Given the description of an element on the screen output the (x, y) to click on. 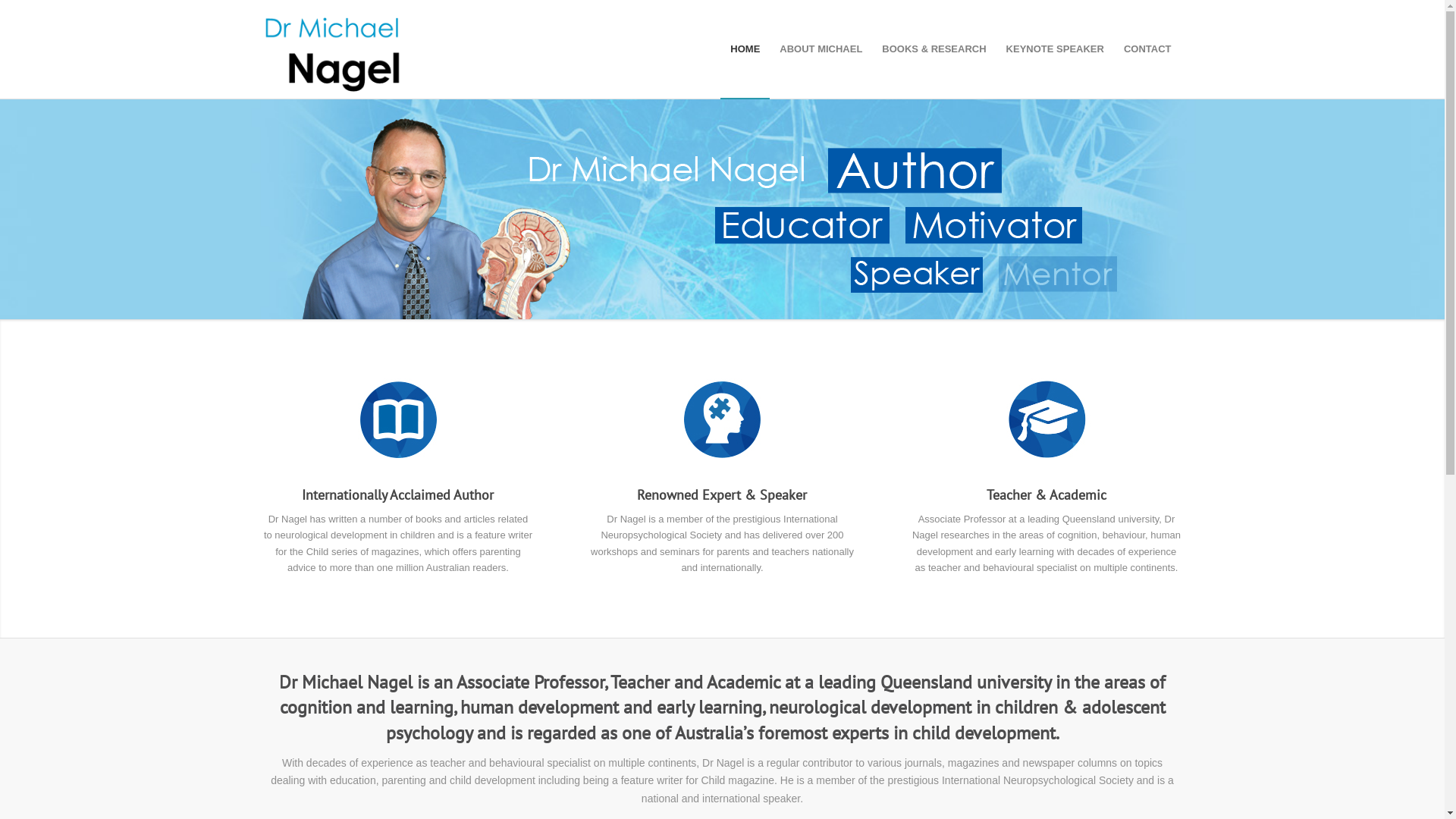
CONTACT Element type: text (1147, 49)
ABOUT MICHAEL Element type: text (820, 49)
KEYNOTE SPEAKER Element type: text (1054, 49)
HOME Element type: text (744, 49)
BOOKS & RESEARCH Element type: text (933, 49)
